Given the description of an element on the screen output the (x, y) to click on. 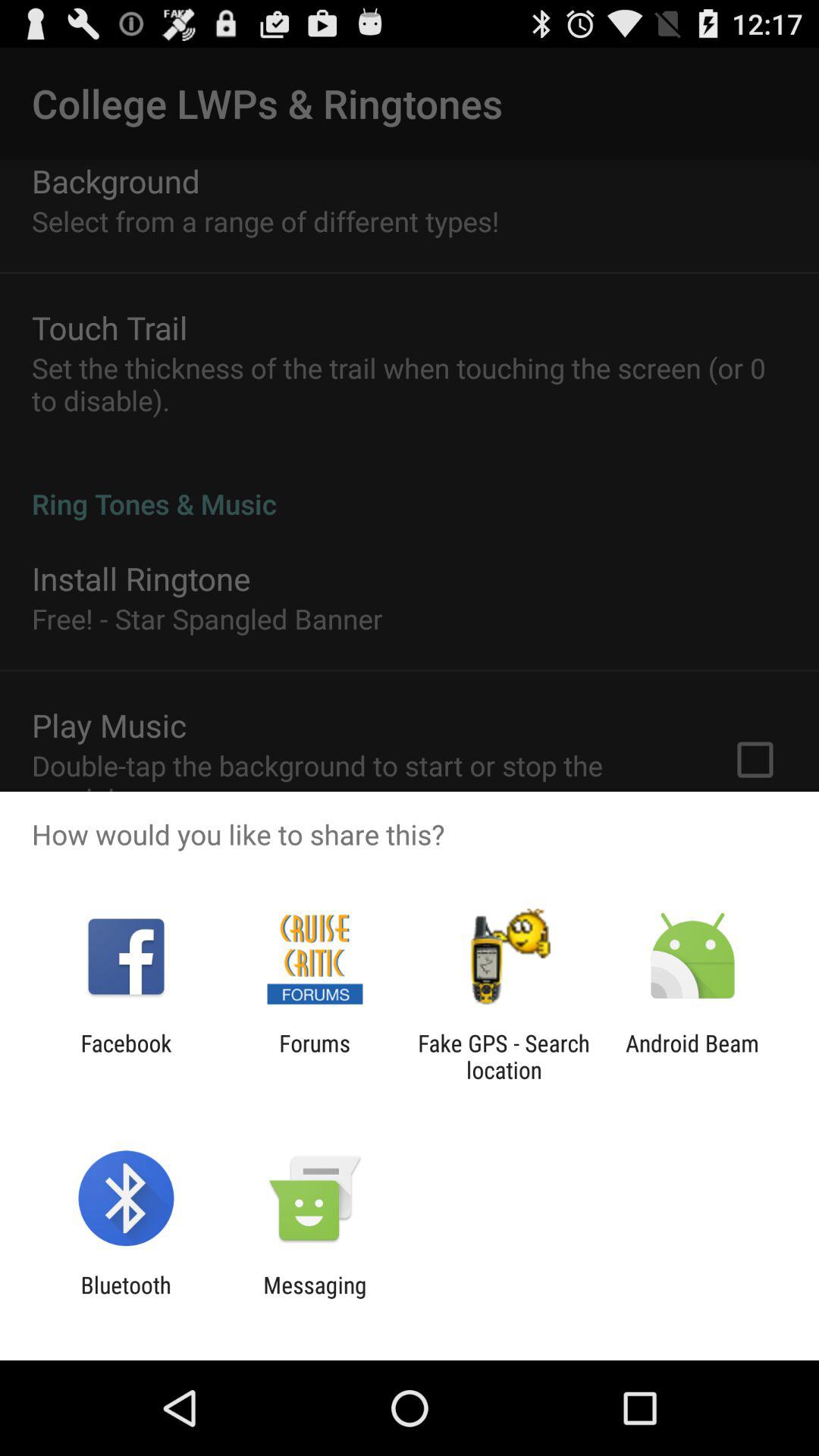
turn on app to the left of the fake gps search app (314, 1056)
